Given the description of an element on the screen output the (x, y) to click on. 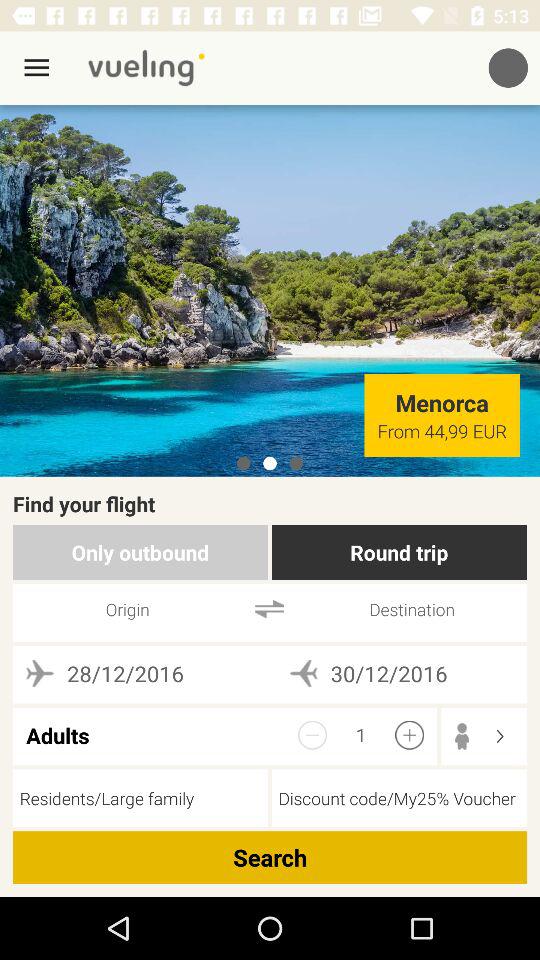
launch the item at the top right corner (508, 67)
